Given the description of an element on the screen output the (x, y) to click on. 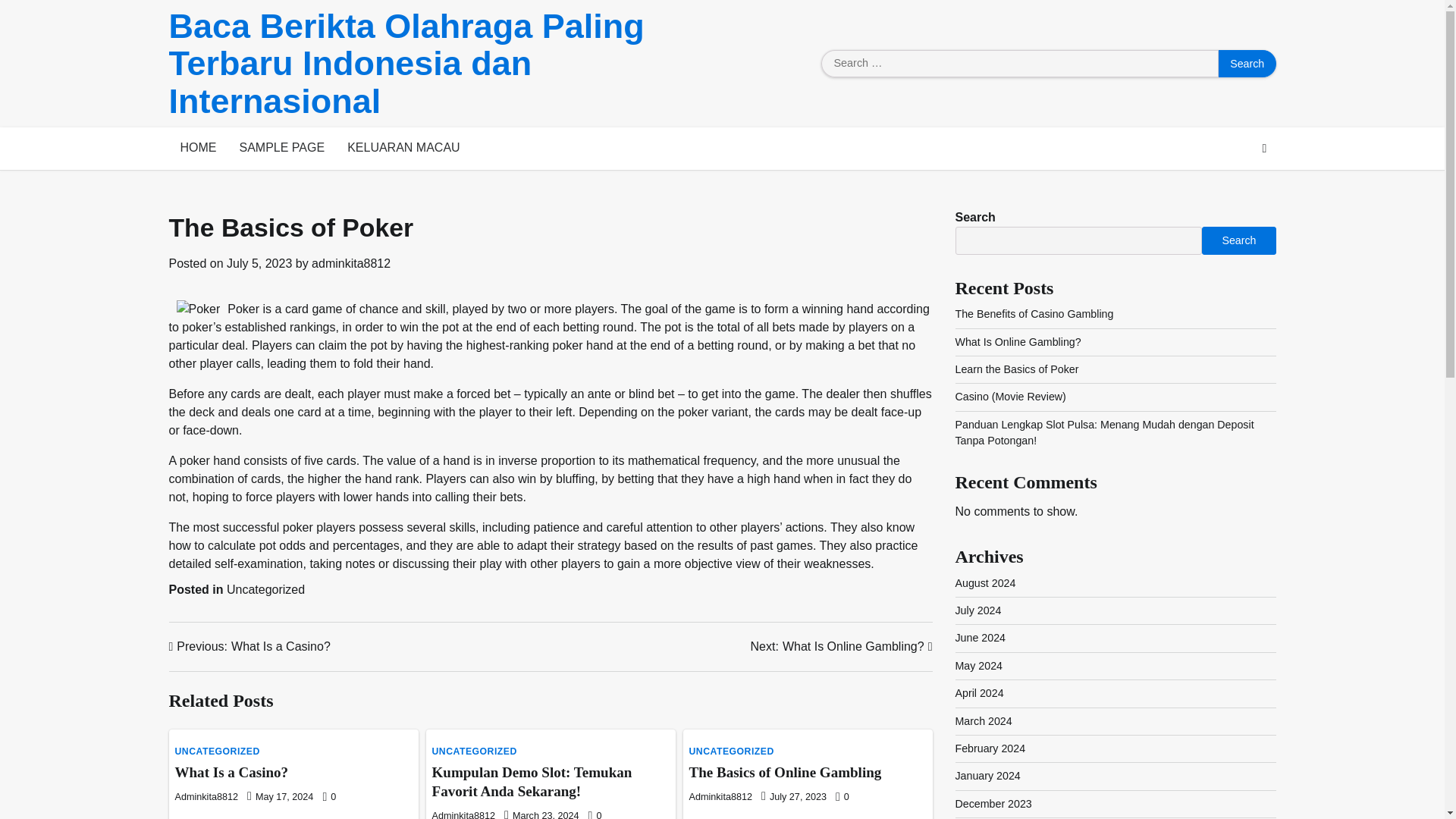
View Random Post (1263, 148)
adminkita8812 (350, 263)
Adminkita8812 (464, 814)
March 2024 (983, 720)
HOME (197, 148)
The Basics of Online Gambling (784, 772)
February 2024 (990, 748)
Kumpulan Demo Slot: Temukan Favorit Anda Sekarang! (531, 781)
August 2024 (985, 582)
January 2024 (987, 775)
